Given the description of an element on the screen output the (x, y) to click on. 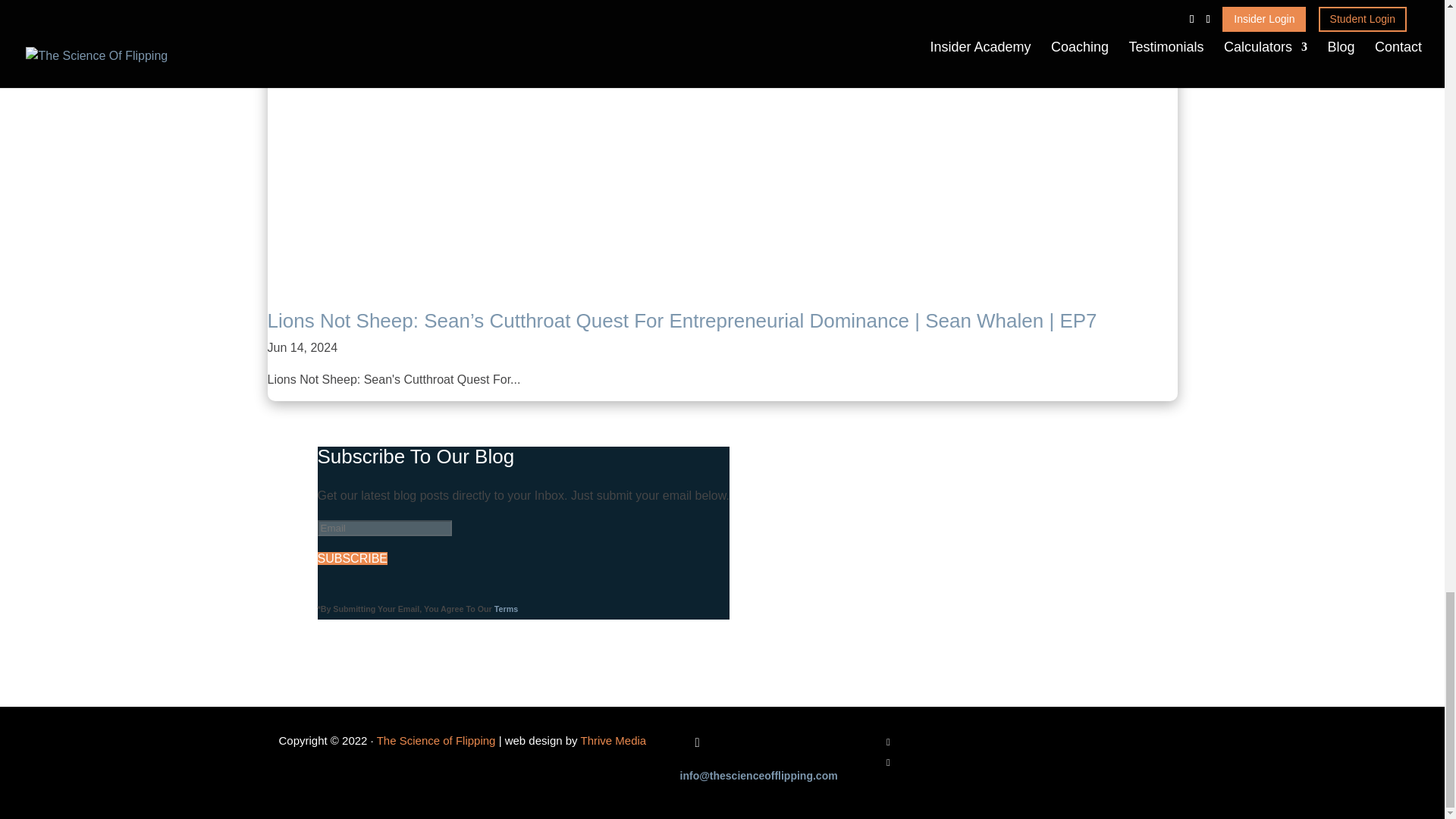
The Science of Flipping (438, 739)
Terms (506, 608)
Thrive Media (612, 739)
SUBSCRIBE (352, 558)
